Given the description of an element on the screen output the (x, y) to click on. 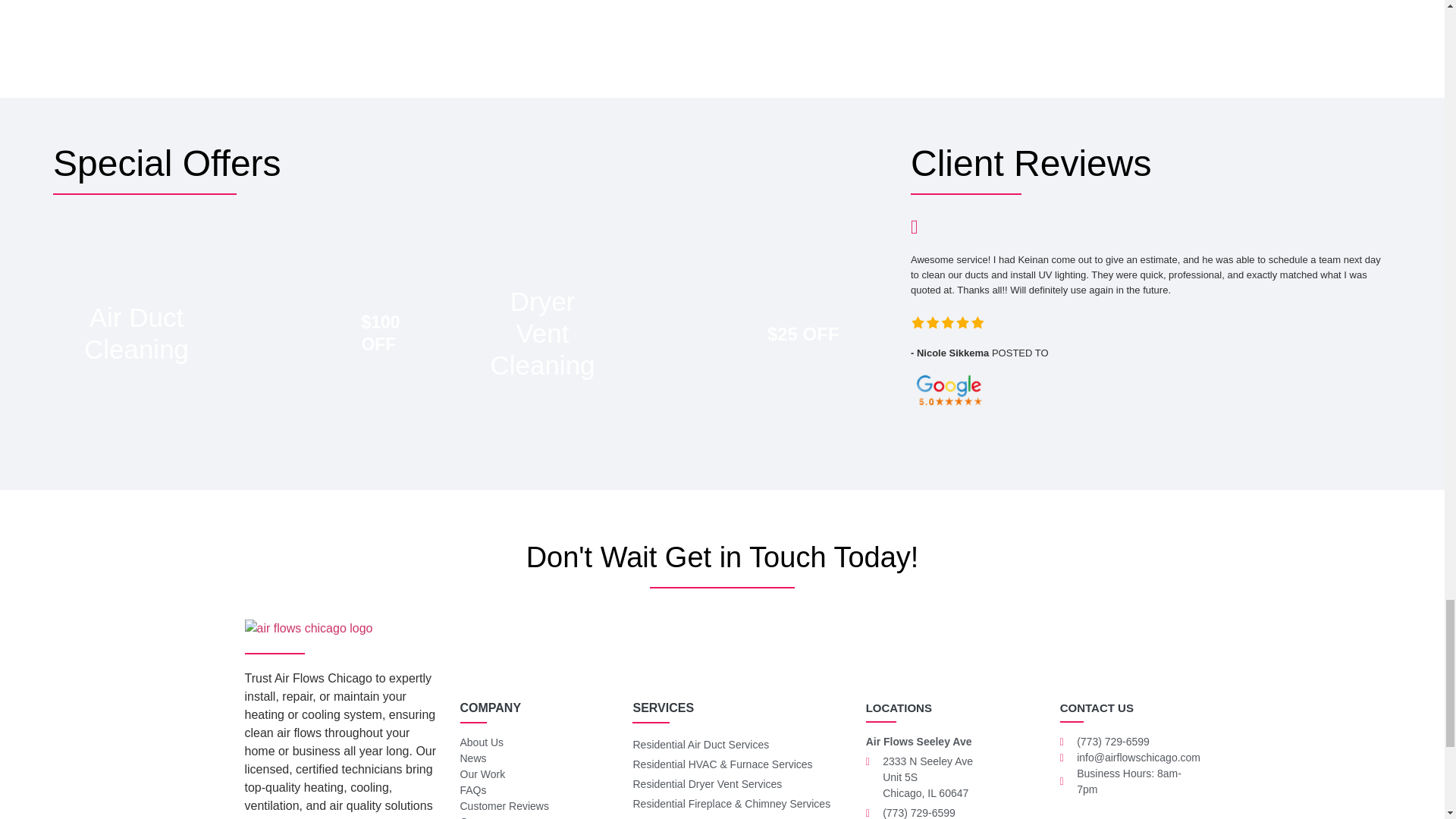
air-flows-logo (308, 628)
